Given the description of an element on the screen output the (x, y) to click on. 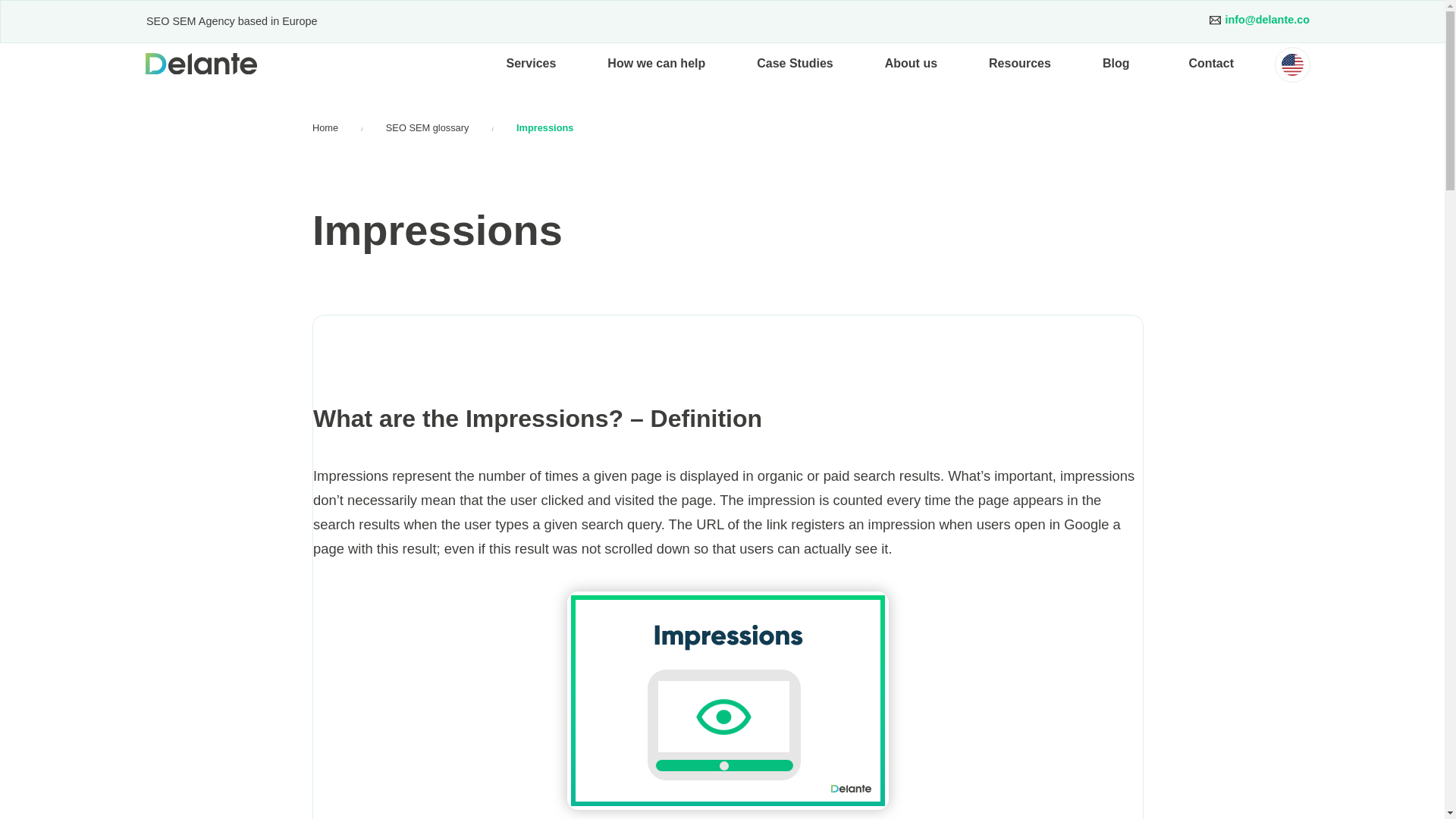
English (1292, 65)
Services (530, 63)
How we can help (656, 63)
